Given the description of an element on the screen output the (x, y) to click on. 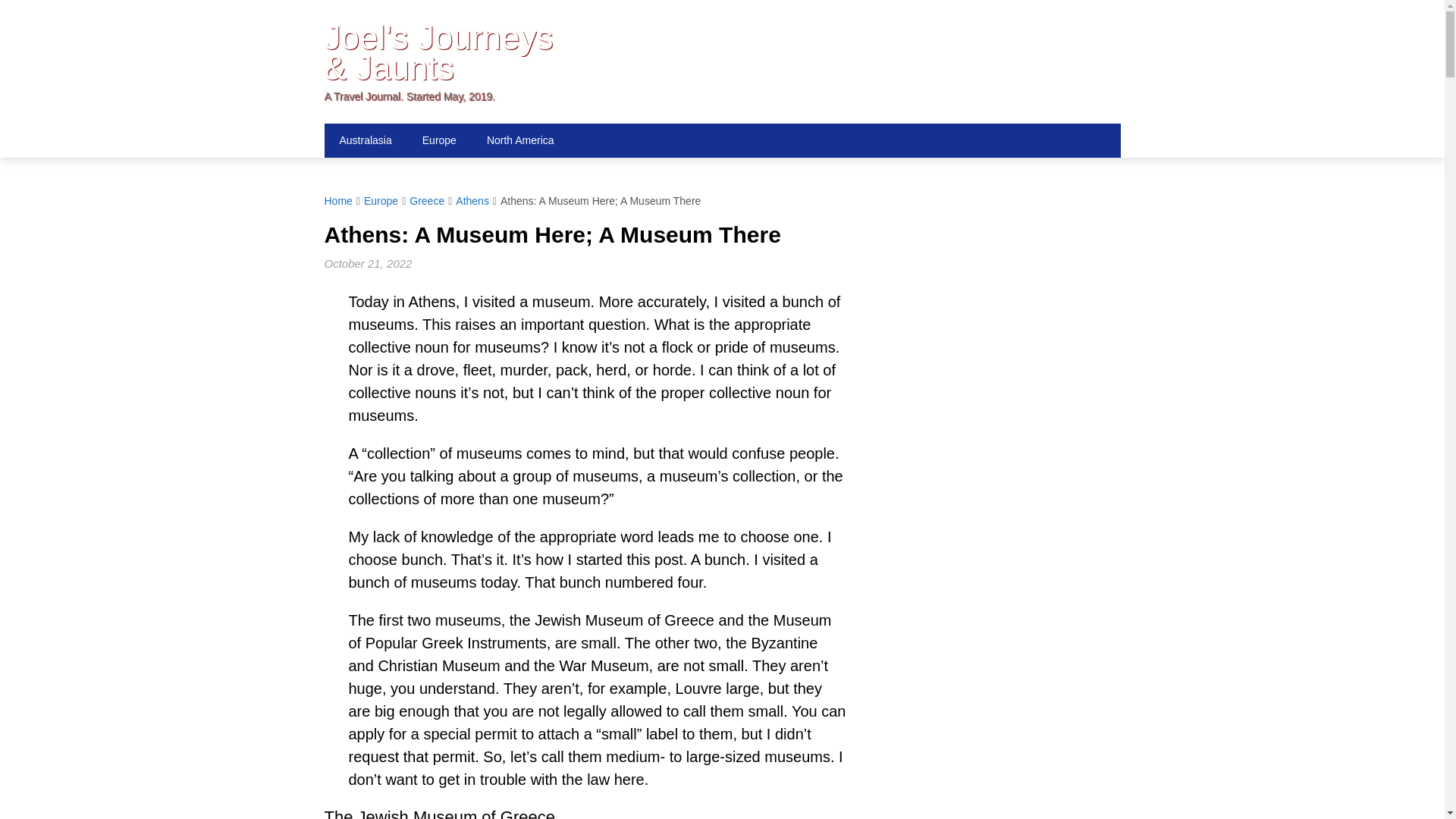
Australasia (365, 140)
Europe (439, 140)
